Given the description of an element on the screen output the (x, y) to click on. 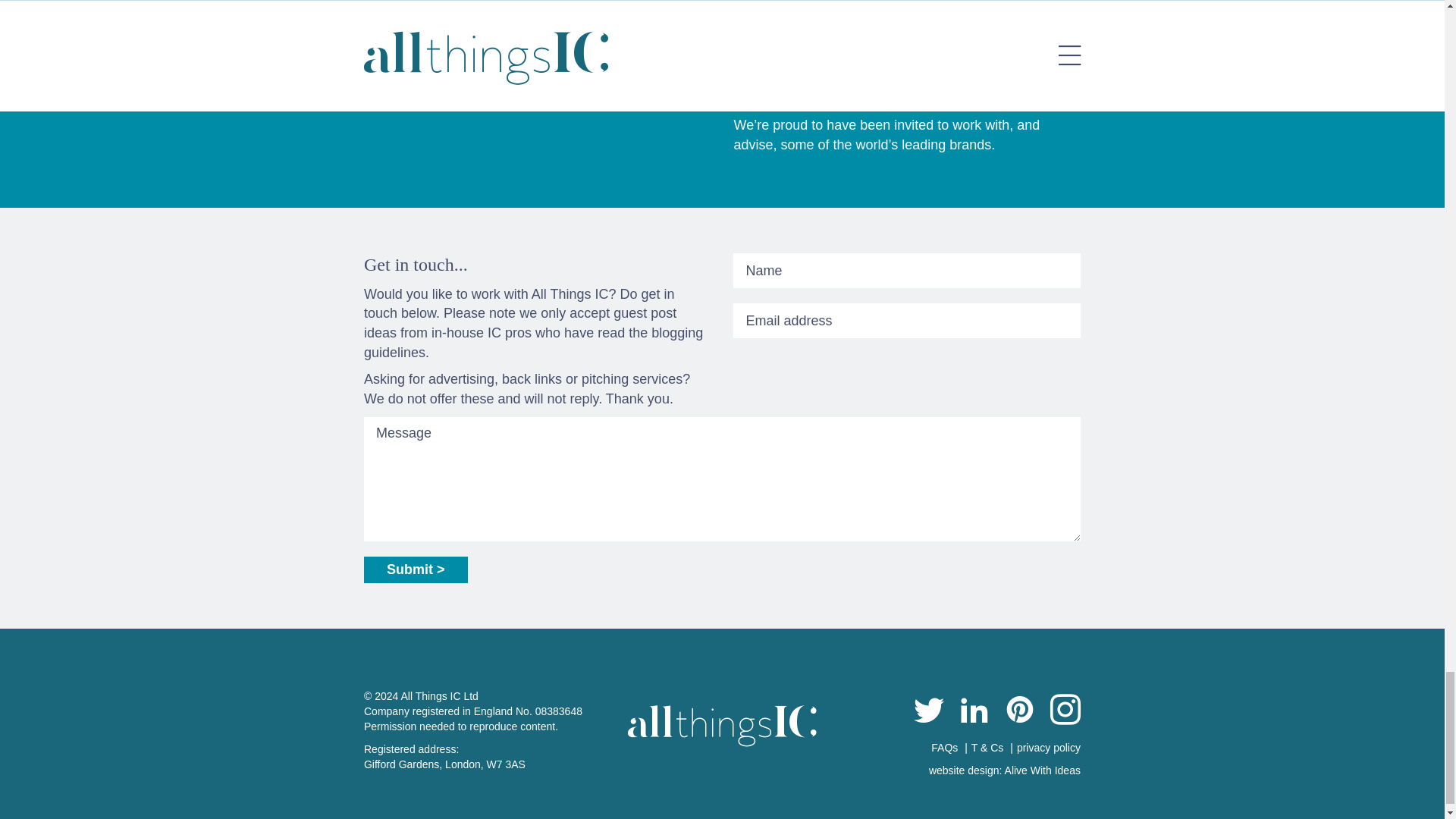
All Things IC on Linkedin (974, 711)
All Things IC on Twitter (928, 711)
All Things IC on Pinterest (1019, 711)
All Things IC on Instagram (1064, 711)
